Given the description of an element on the screen output the (x, y) to click on. 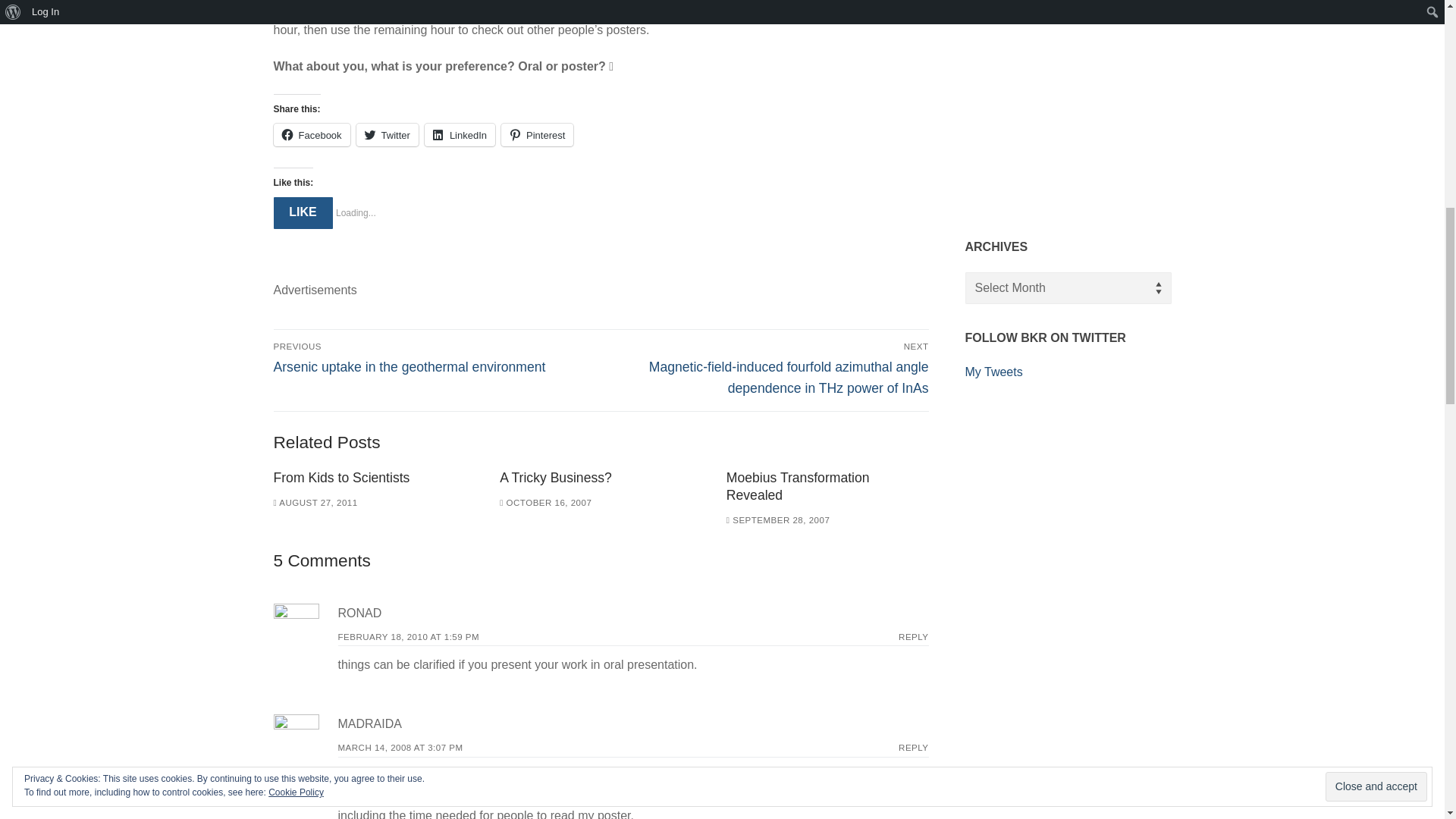
From Kids to Scientists (341, 477)
Like or Reblog (600, 259)
Twitter (387, 134)
From Kids to Scientists (341, 477)
AUGUST 27, 2011 (314, 501)
A Tricky Business? (555, 477)
Pinterest (536, 134)
LinkedIn (460, 134)
Click to share on Facebook (311, 134)
Click to share on LinkedIn (460, 134)
Click to share on Twitter (387, 134)
Facebook (311, 134)
Click to share on Pinterest (536, 134)
